Given the description of an element on the screen output the (x, y) to click on. 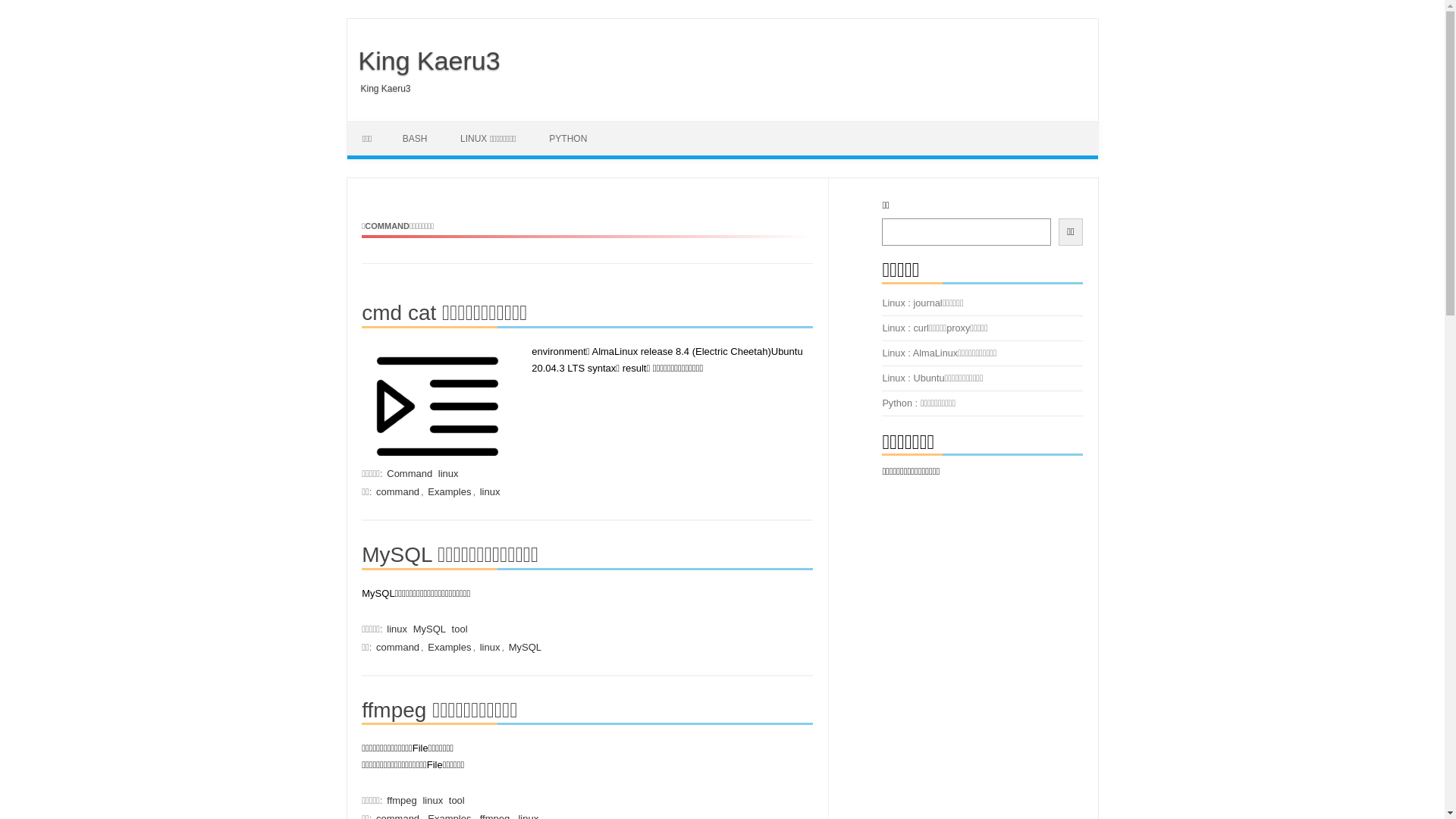
command Element type: text (397, 491)
linux Element type: text (396, 628)
King Kaeru3 Element type: text (423, 60)
tool Element type: text (459, 628)
MySQL Element type: text (524, 647)
tool Element type: text (456, 800)
Examples Element type: text (449, 491)
BASH Element type: text (414, 138)
linux Element type: text (490, 491)
Command Element type: text (409, 473)
ffmpeg Element type: text (401, 800)
command Element type: text (397, 647)
King Kaeru3 Element type: text (379, 88)
Examples Element type: text (449, 647)
linux Element type: text (432, 800)
MySQL Element type: text (429, 628)
PYTHON Element type: text (567, 138)
linux Element type: text (490, 647)
linux Element type: text (448, 473)
